Given the description of an element on the screen output the (x, y) to click on. 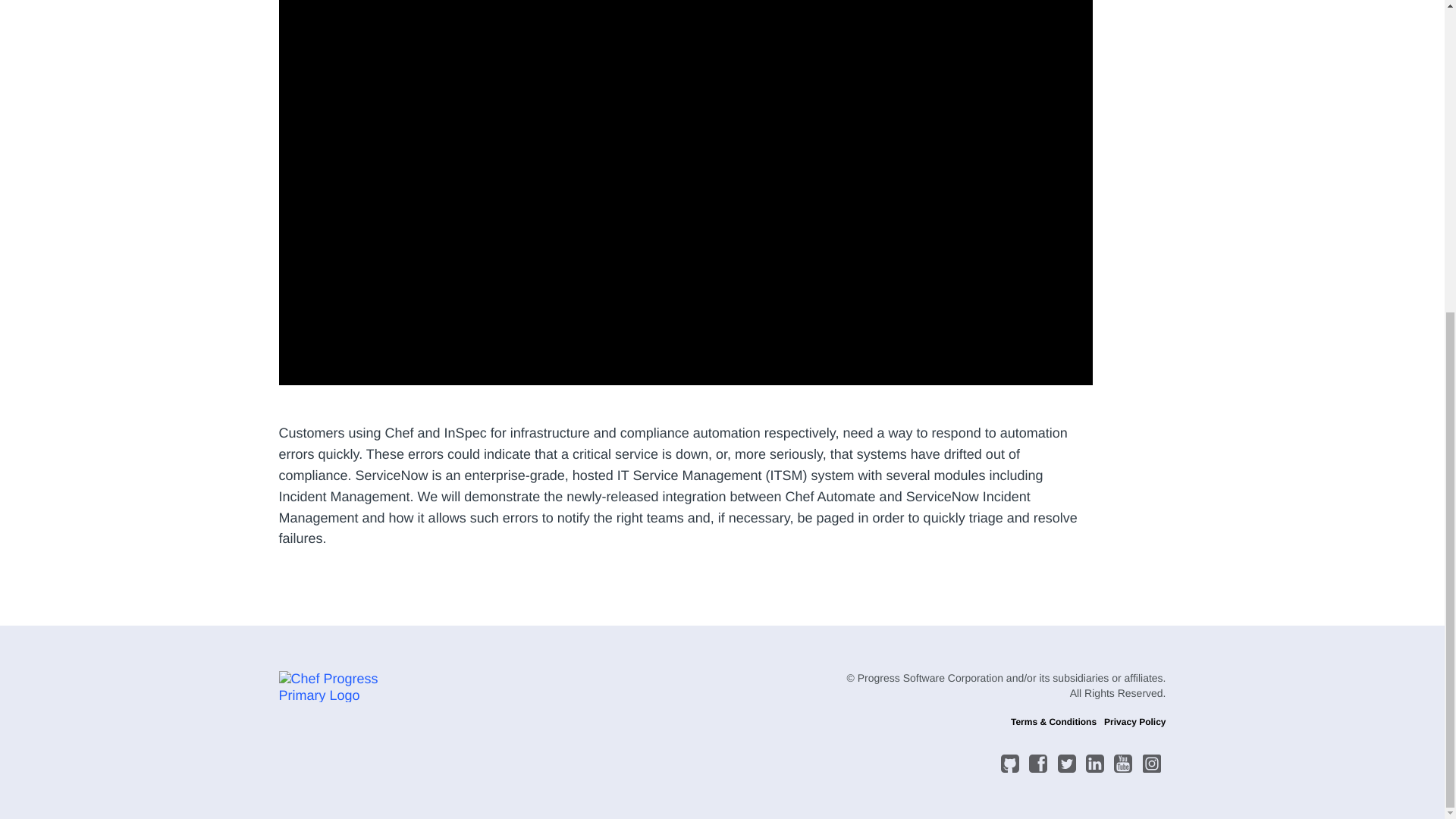
Privacy Policy (1134, 721)
